Given the description of an element on the screen output the (x, y) to click on. 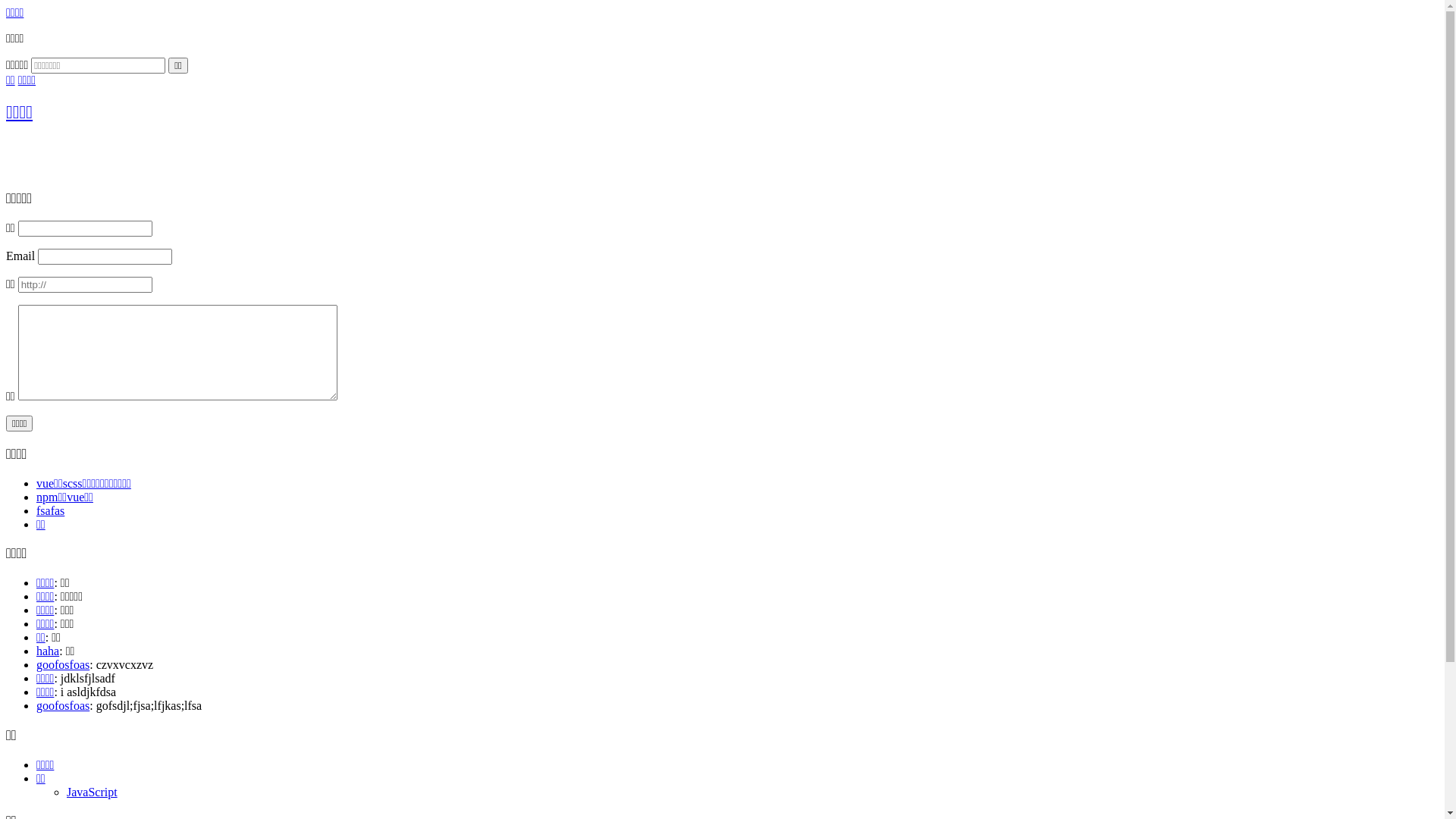
haha Element type: text (47, 650)
goofosfoas Element type: text (62, 664)
goofosfoas Element type: text (62, 705)
fsafas Element type: text (50, 510)
JavaScript Element type: text (91, 791)
